Given the description of an element on the screen output the (x, y) to click on. 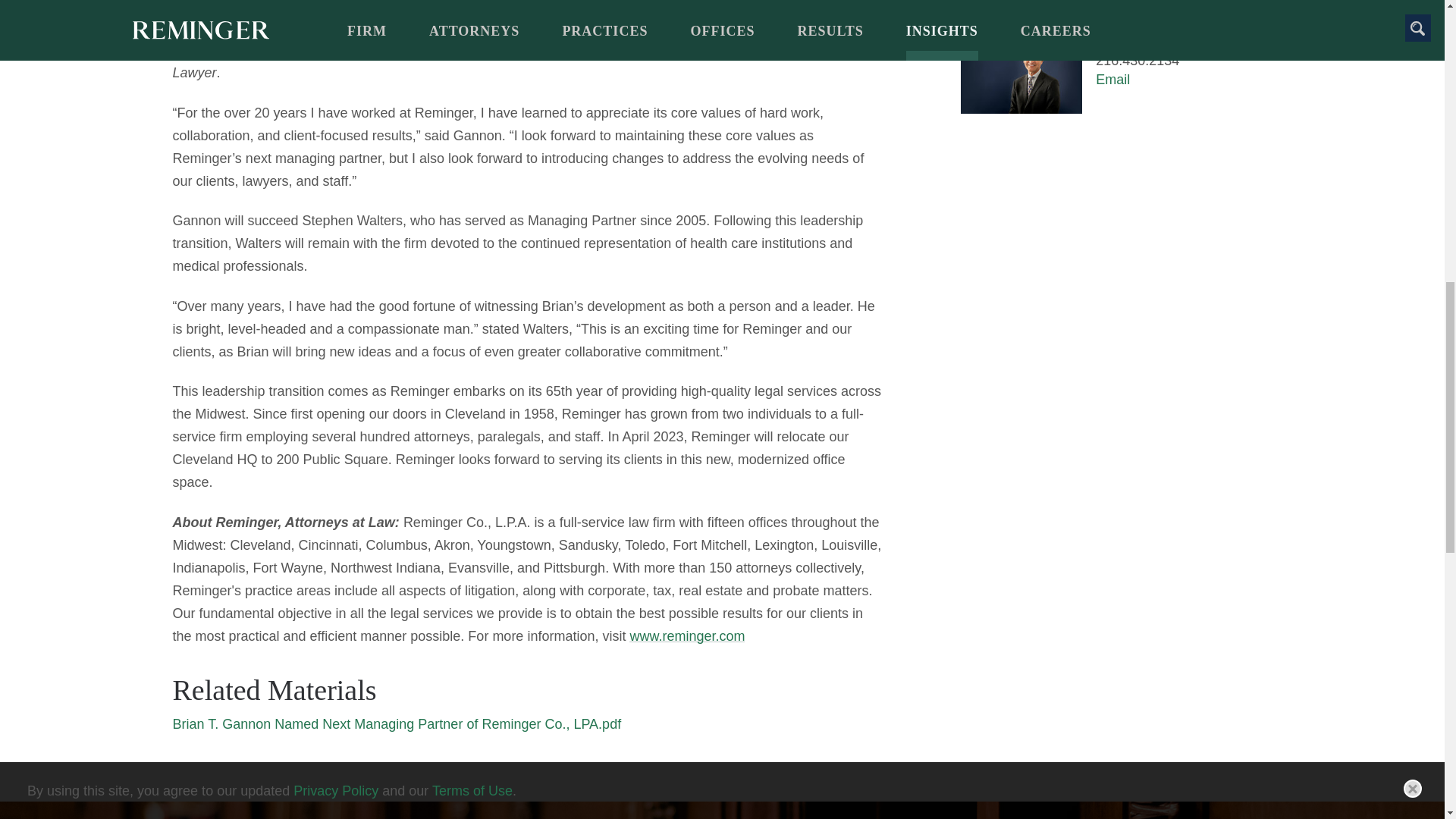
Email (1112, 79)
216.430.2134 (1137, 60)
Stephen Walters (1145, 41)
www.reminger.com (686, 635)
